Given the description of an element on the screen output the (x, y) to click on. 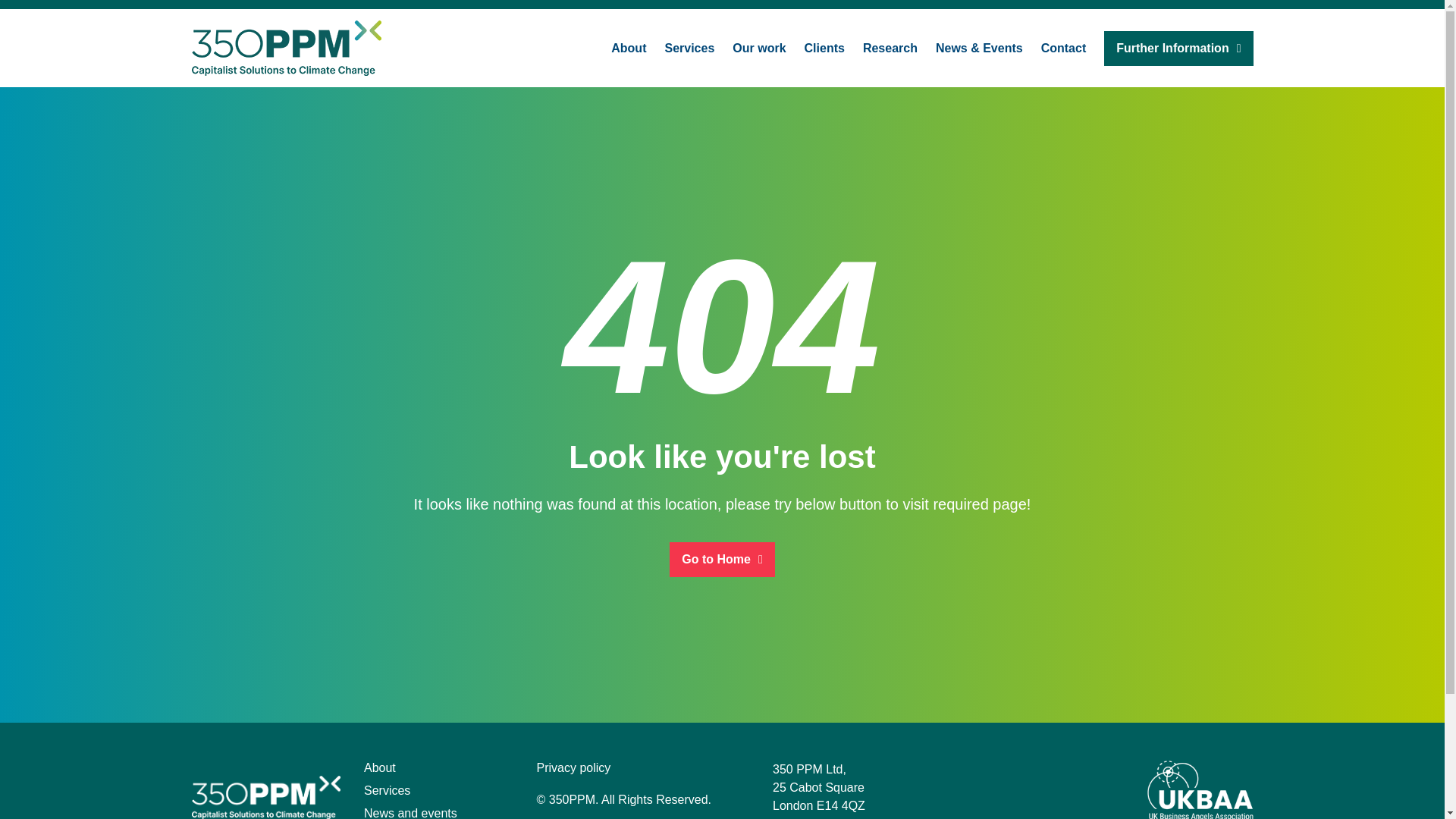
Clients (824, 47)
About (380, 767)
Contact (1063, 47)
Research (890, 47)
Privacy policy (574, 767)
Services (688, 47)
Go to Home (721, 558)
News and events (410, 812)
Further Information (1177, 47)
Our work (759, 47)
About (628, 47)
Services (387, 789)
